Given the description of an element on the screen output the (x, y) to click on. 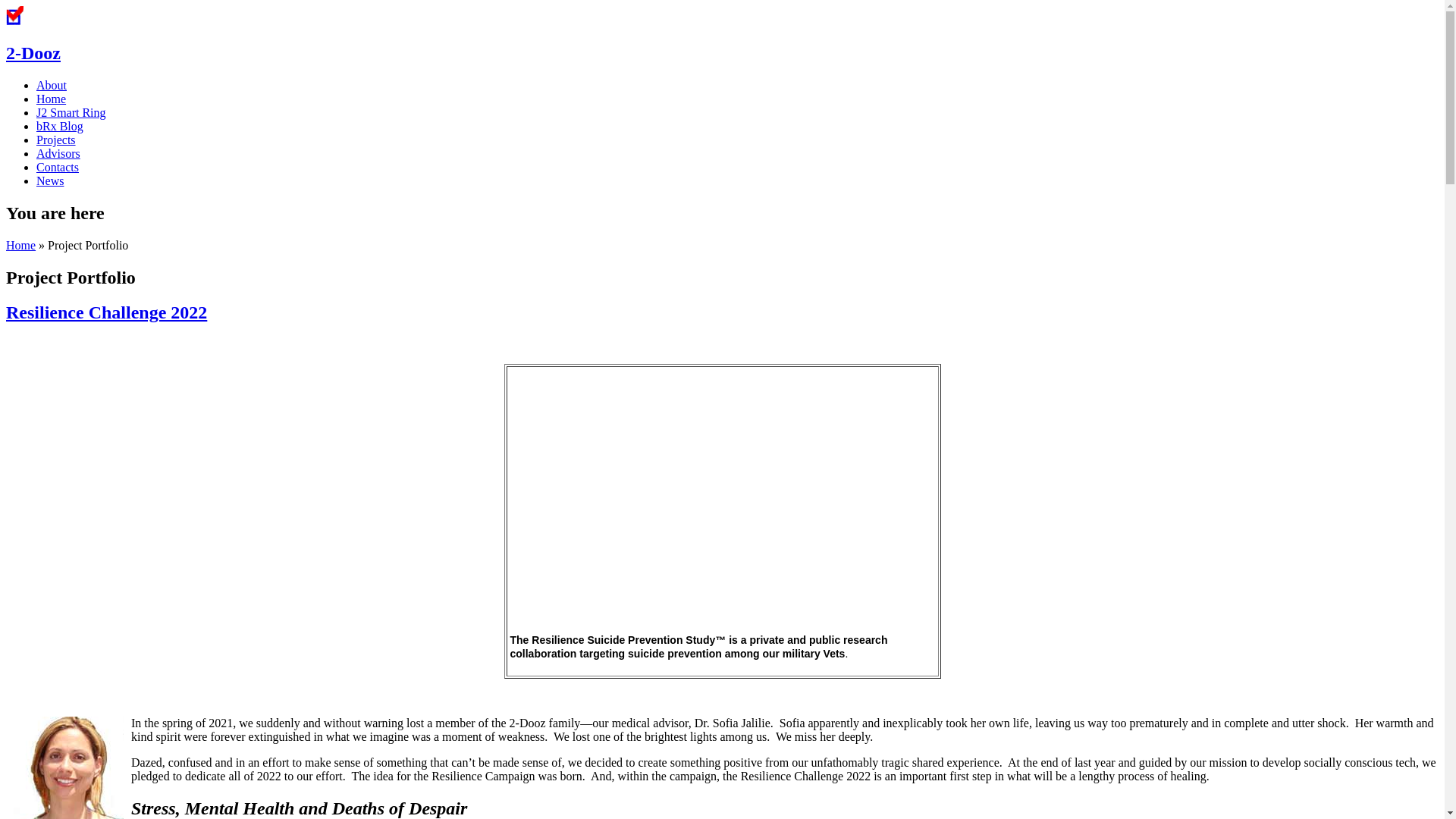
Home Element type: text (50, 98)
Home Element type: text (20, 244)
Contacts Element type: text (57, 166)
News Element type: text (49, 180)
Advisors Element type: text (58, 153)
J2 Smart Ring Element type: text (71, 112)
Home Element type: hover (14, 20)
Resilience Challenge 2022 Element type: text (106, 312)
About Element type: text (51, 84)
bRx Blog Element type: text (59, 125)
Projects Element type: text (55, 139)
Resilience Challenge 2022 Element type: hover (721, 501)
2-Dooz Element type: text (33, 52)
